Given the description of an element on the screen output the (x, y) to click on. 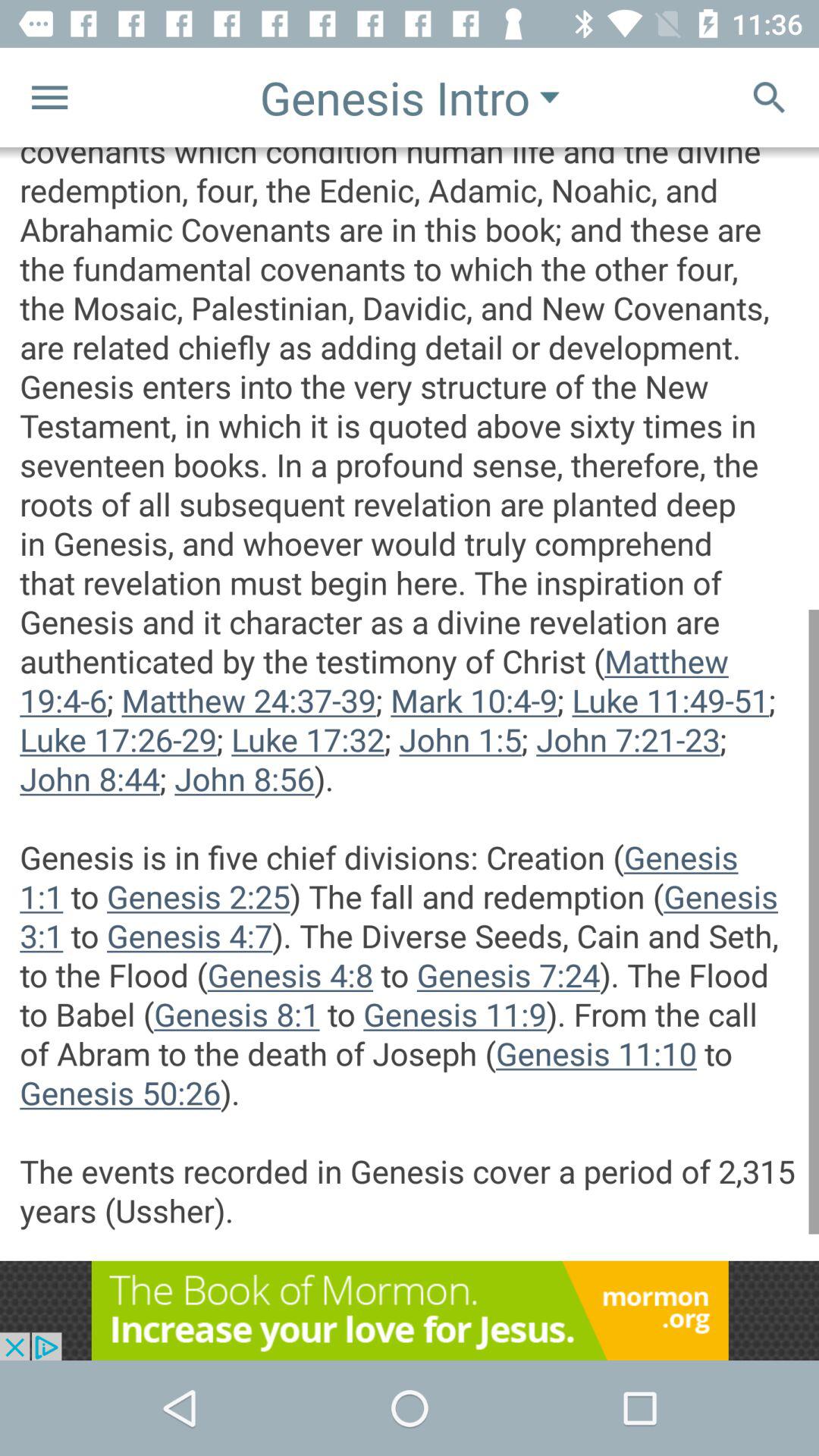
view options (49, 97)
